Given the description of an element on the screen output the (x, y) to click on. 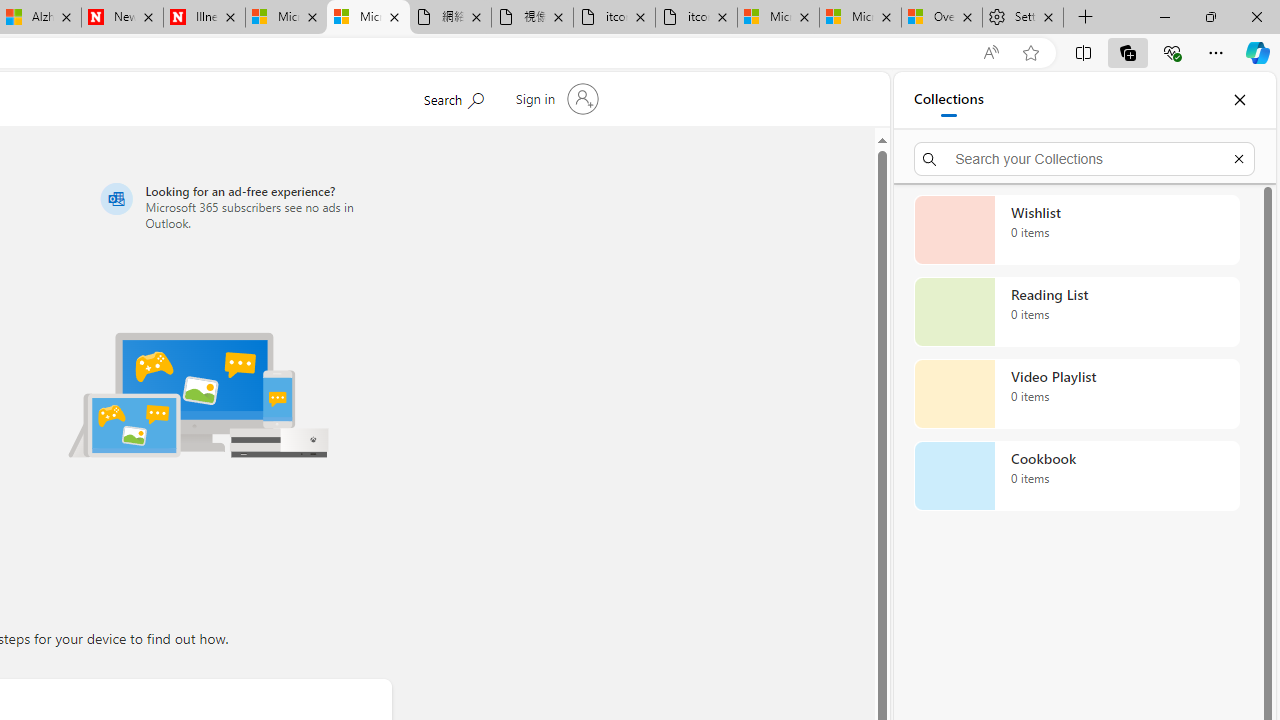
Illness news & latest pictures from Newsweek.com (203, 17)
Search Microsoft.com (452, 97)
Wishlist collection, 0 items (1076, 229)
itconcepthk.com/projector_solutions.mp4 (696, 17)
Reading List collection, 0 items (1076, 312)
Video Playlist collection, 0 items (1076, 394)
Cookbook collection, 0 items (1076, 475)
Illustration of multiple devices (198, 394)
Sign in to your account (554, 98)
Search your Collections (1084, 158)
